Given the description of an element on the screen output the (x, y) to click on. 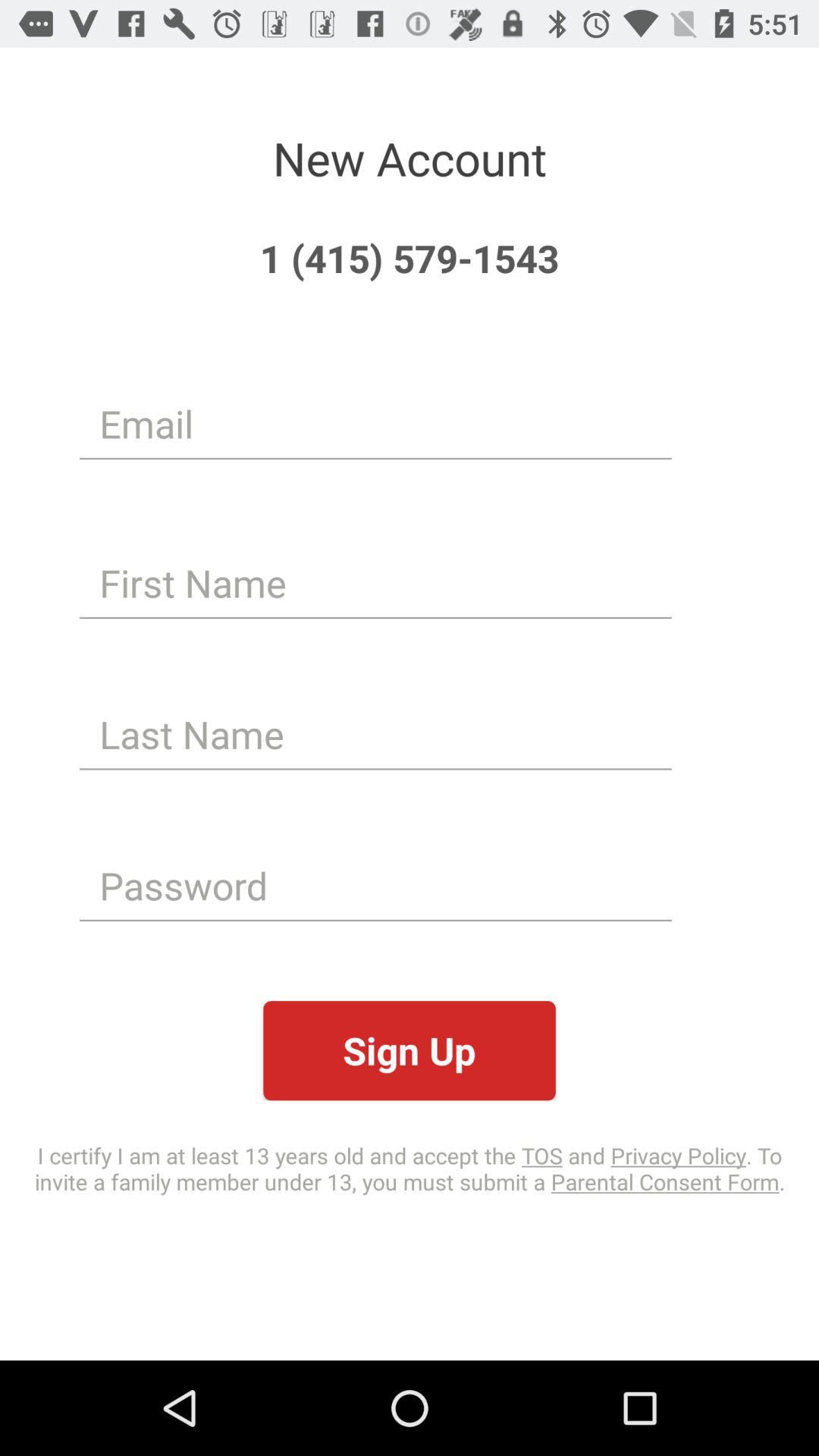
swipe until the i certify i icon (409, 1168)
